Given the description of an element on the screen output the (x, y) to click on. 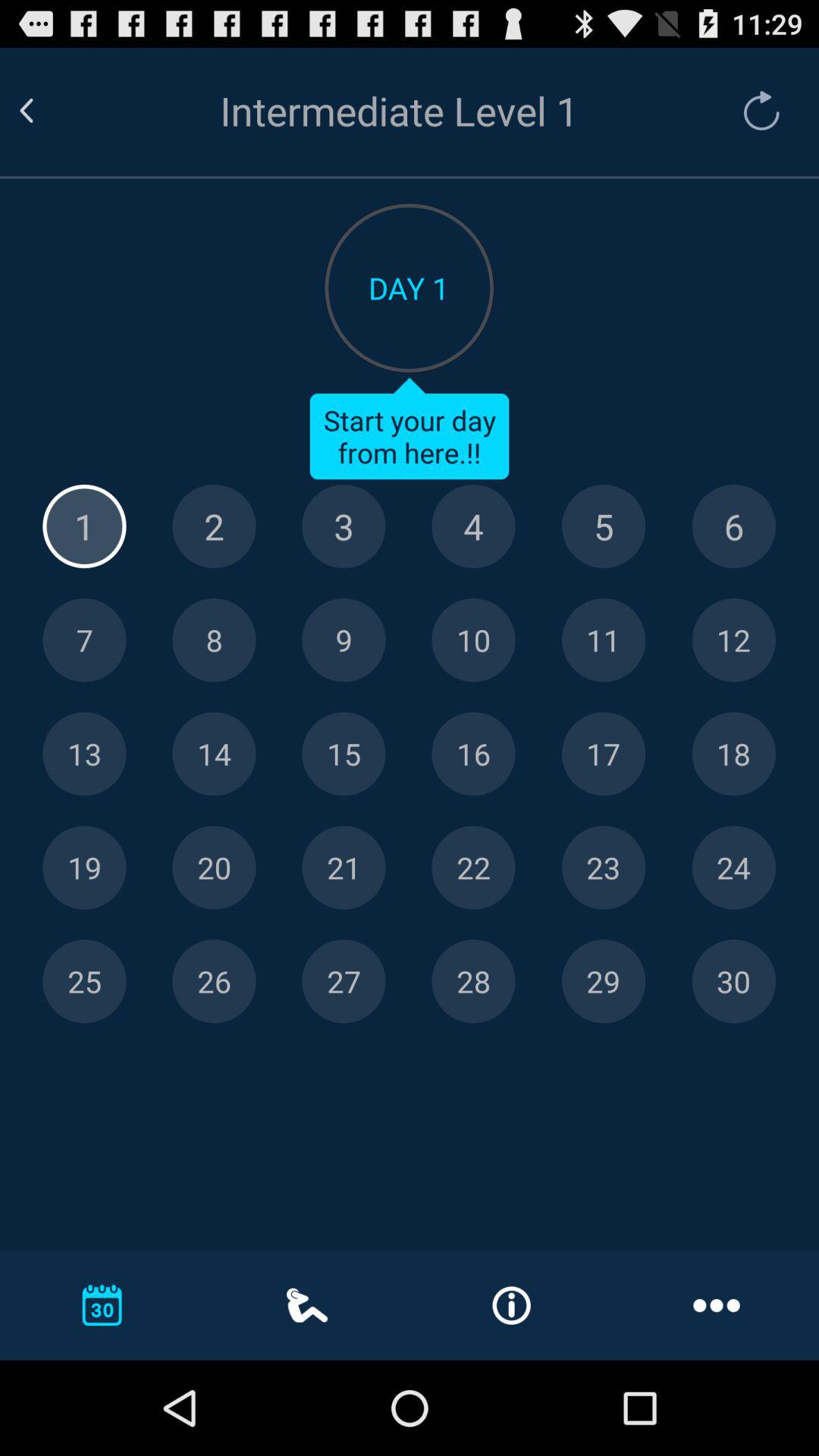
go back (44, 110)
